Given the description of an element on the screen output the (x, y) to click on. 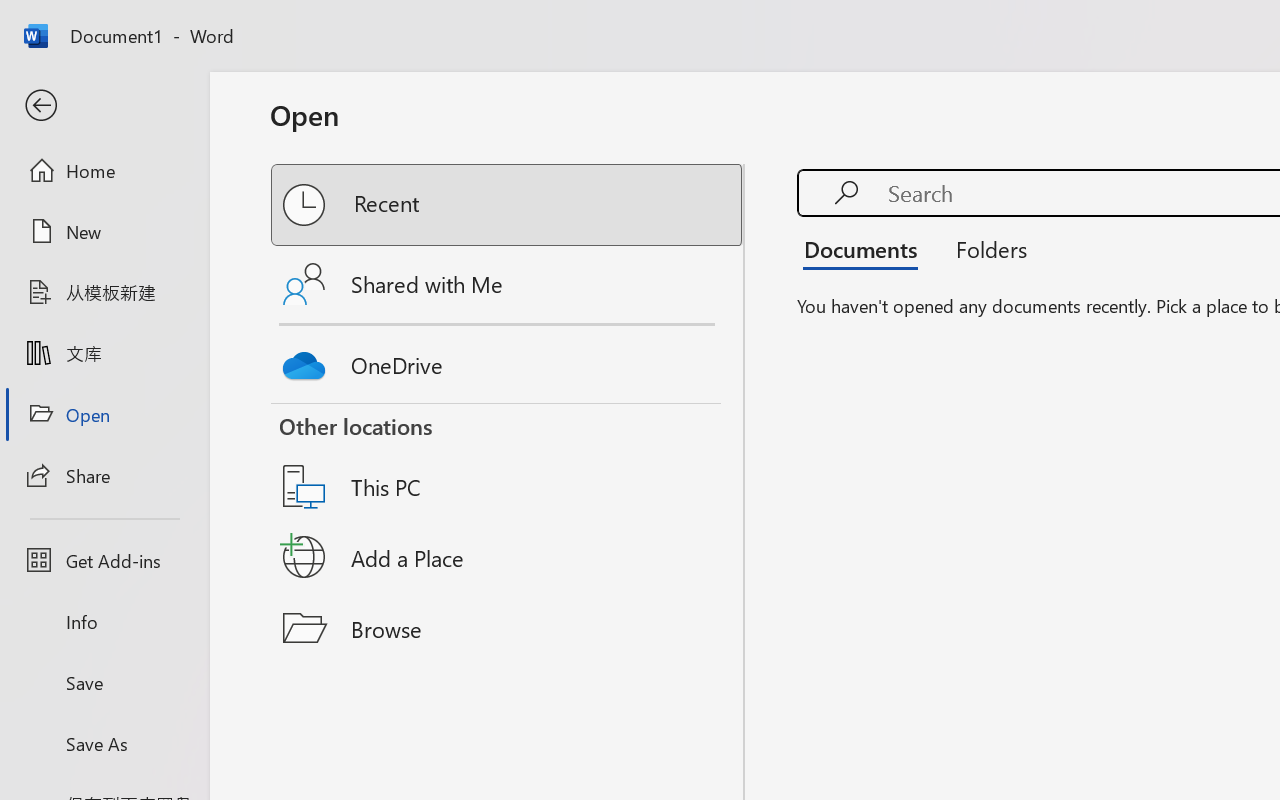
Recent (507, 205)
Folders (984, 248)
Get Add-ins (104, 560)
Shared with Me (507, 283)
Add a Place (507, 557)
Info (104, 621)
New (104, 231)
Save As (104, 743)
Browse (507, 627)
